Given the description of an element on the screen output the (x, y) to click on. 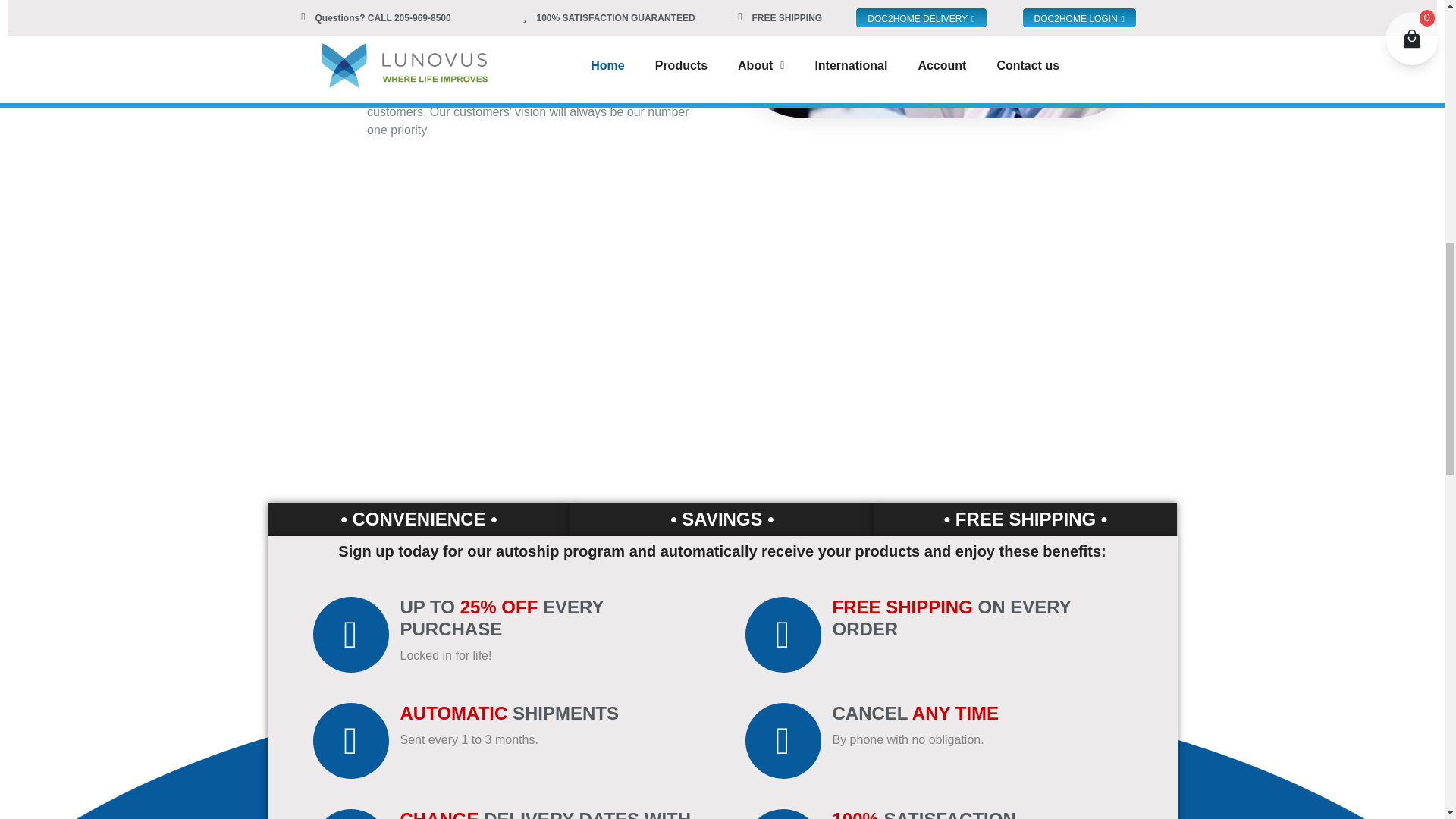
15 plus years in vision care (463, 74)
